Given the description of an element on the screen output the (x, y) to click on. 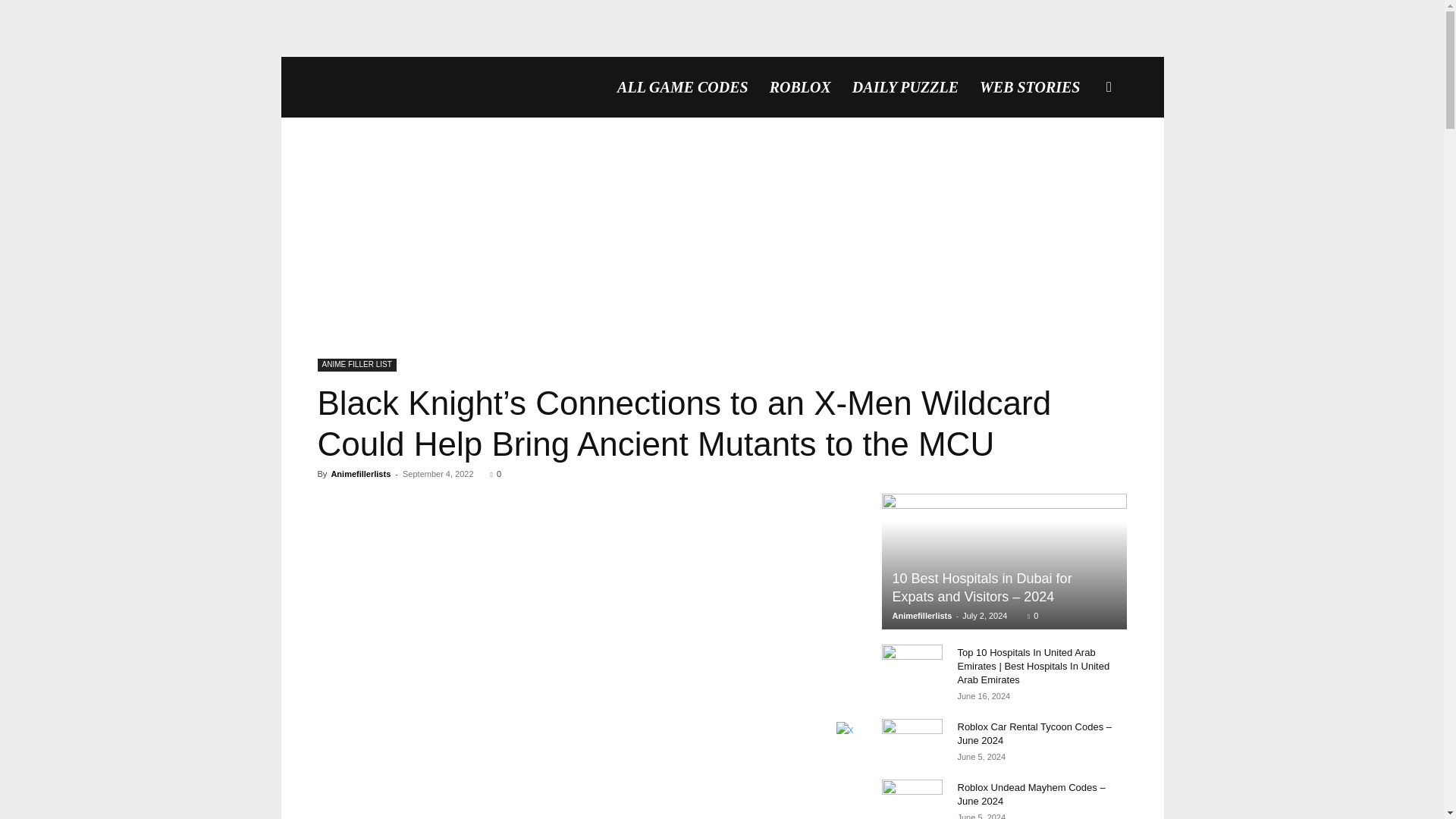
Animefillerlists (360, 473)
ALL GAME CODES (682, 86)
ANIME FILLER LIST (356, 364)
Search (1085, 159)
0 (495, 473)
ROBLOX (799, 86)
DAILY PUZZLE (905, 86)
WEB STORIES (1029, 86)
